Given the description of an element on the screen output the (x, y) to click on. 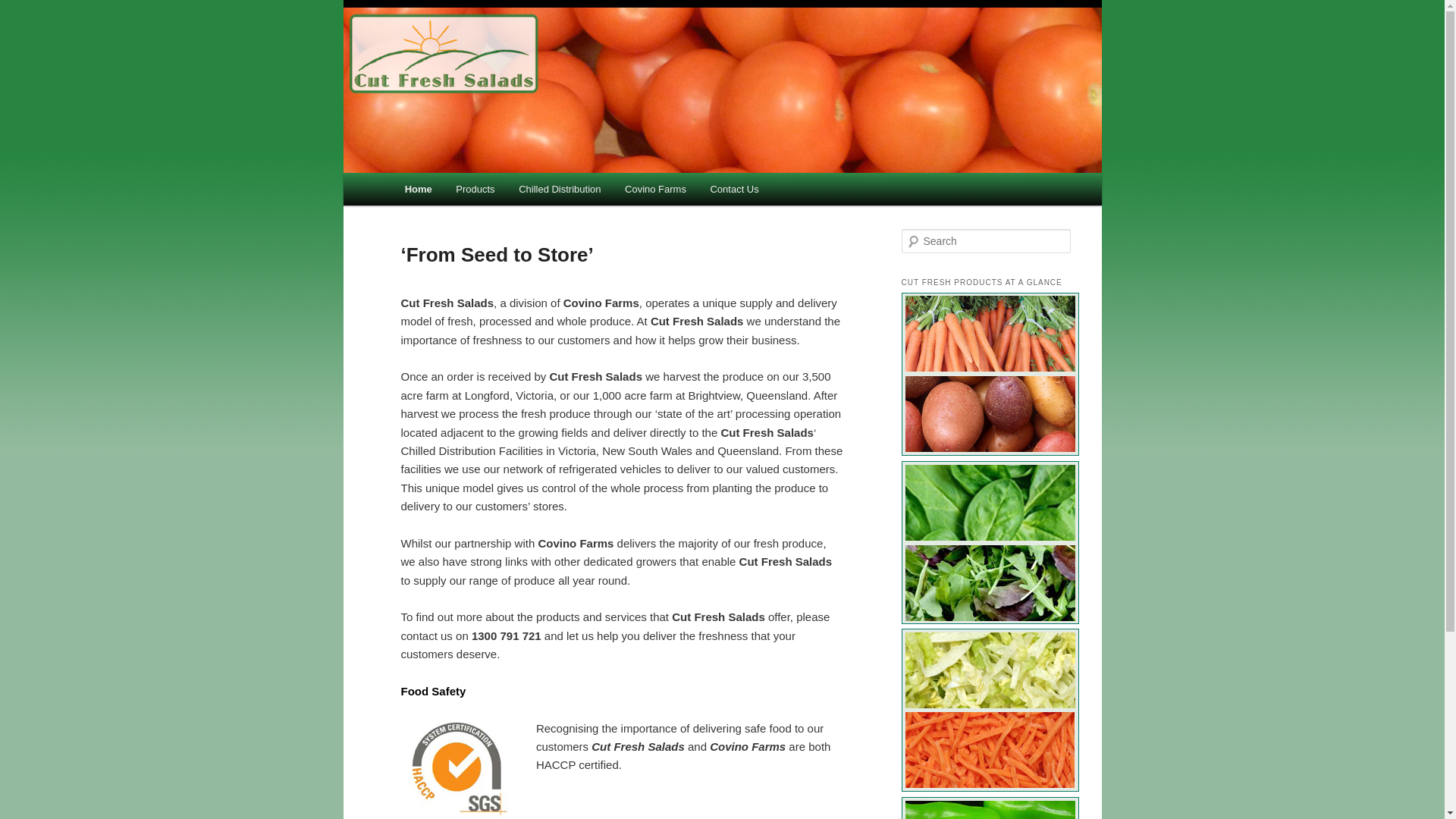
Covino Farms Element type: text (654, 188)
Contact Us Element type: text (734, 188)
Search Element type: text (20, 10)
Home Element type: text (418, 188)
Chilled Distribution Element type: text (559, 188)
Products Element type: text (475, 188)
Skip to primary content Element type: text (414, 172)
